Given the description of an element on the screen output the (x, y) to click on. 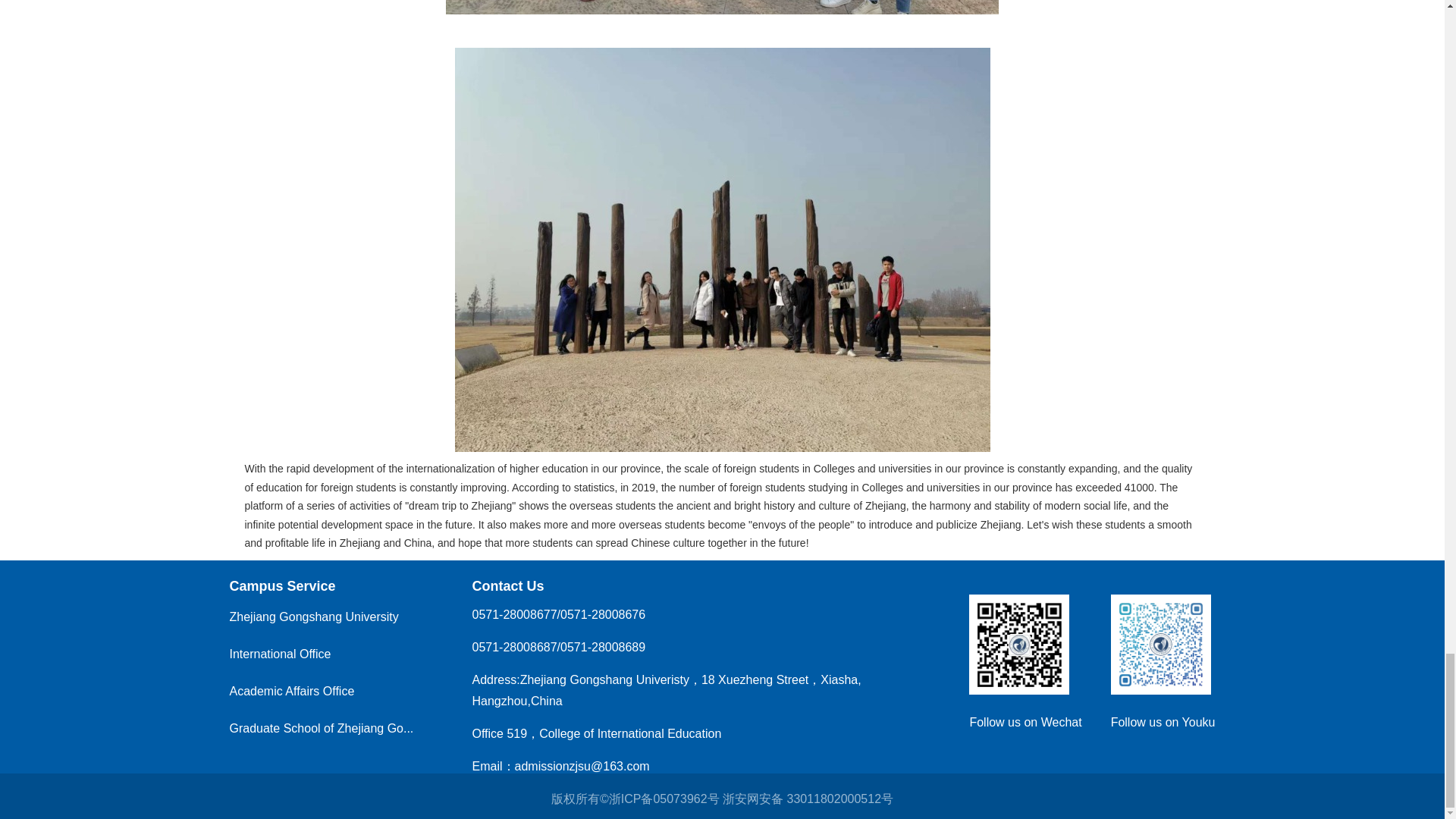
International Office (279, 653)
Follow us on Youku (1162, 721)
Follow us on Wechat (1018, 613)
Follow us on Youku (1161, 613)
Graduate School of Zhejiang Go... (320, 727)
Follow us on Wechat (1025, 721)
Zhejiang Gongshang University (312, 616)
Contact Us (507, 585)
Follow us on Wechat (1025, 721)
